Given the description of an element on the screen output the (x, y) to click on. 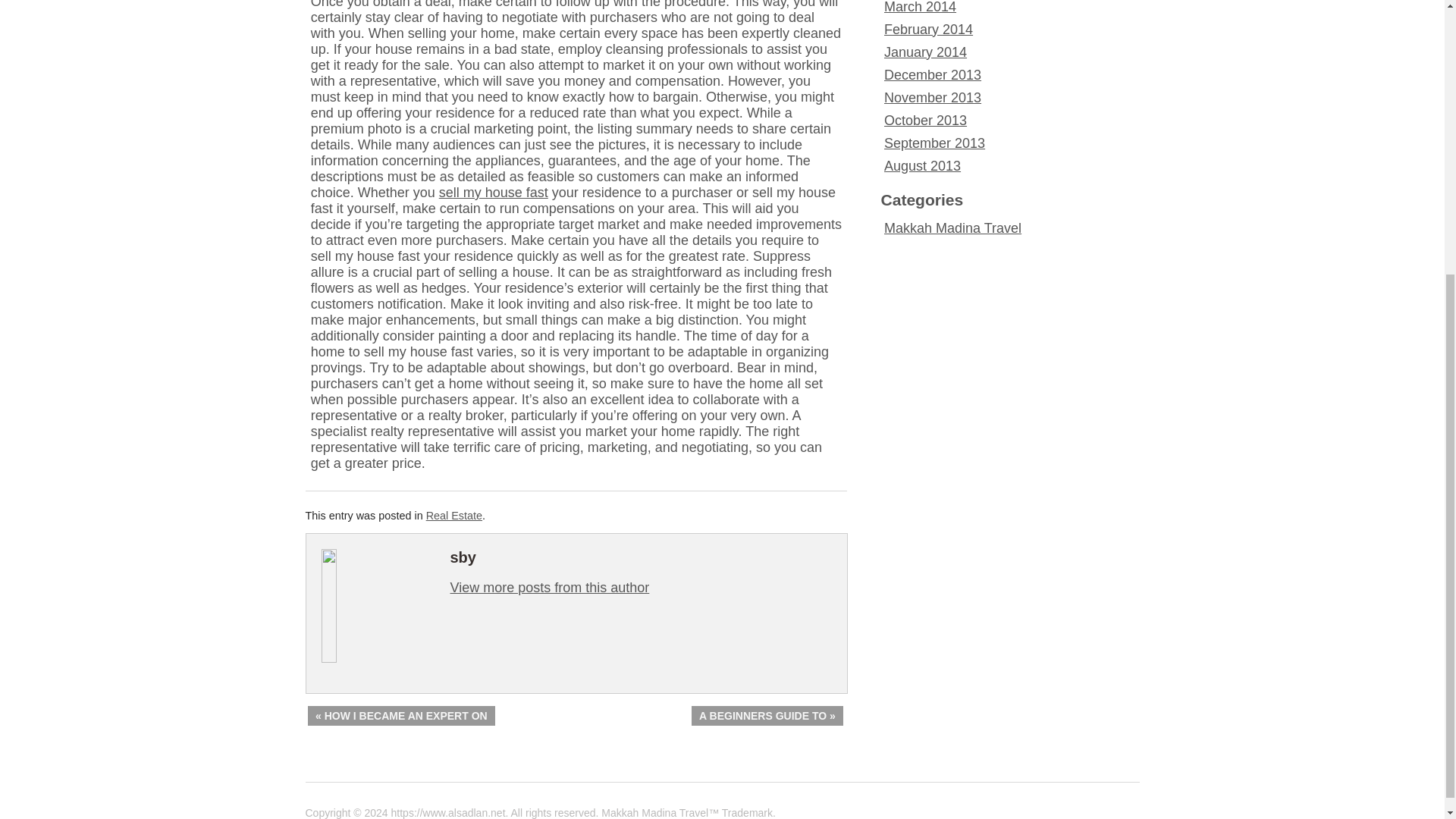
View more posts from this author (549, 587)
sell my house fast (493, 192)
Real Estate (453, 515)
